Given the description of an element on the screen output the (x, y) to click on. 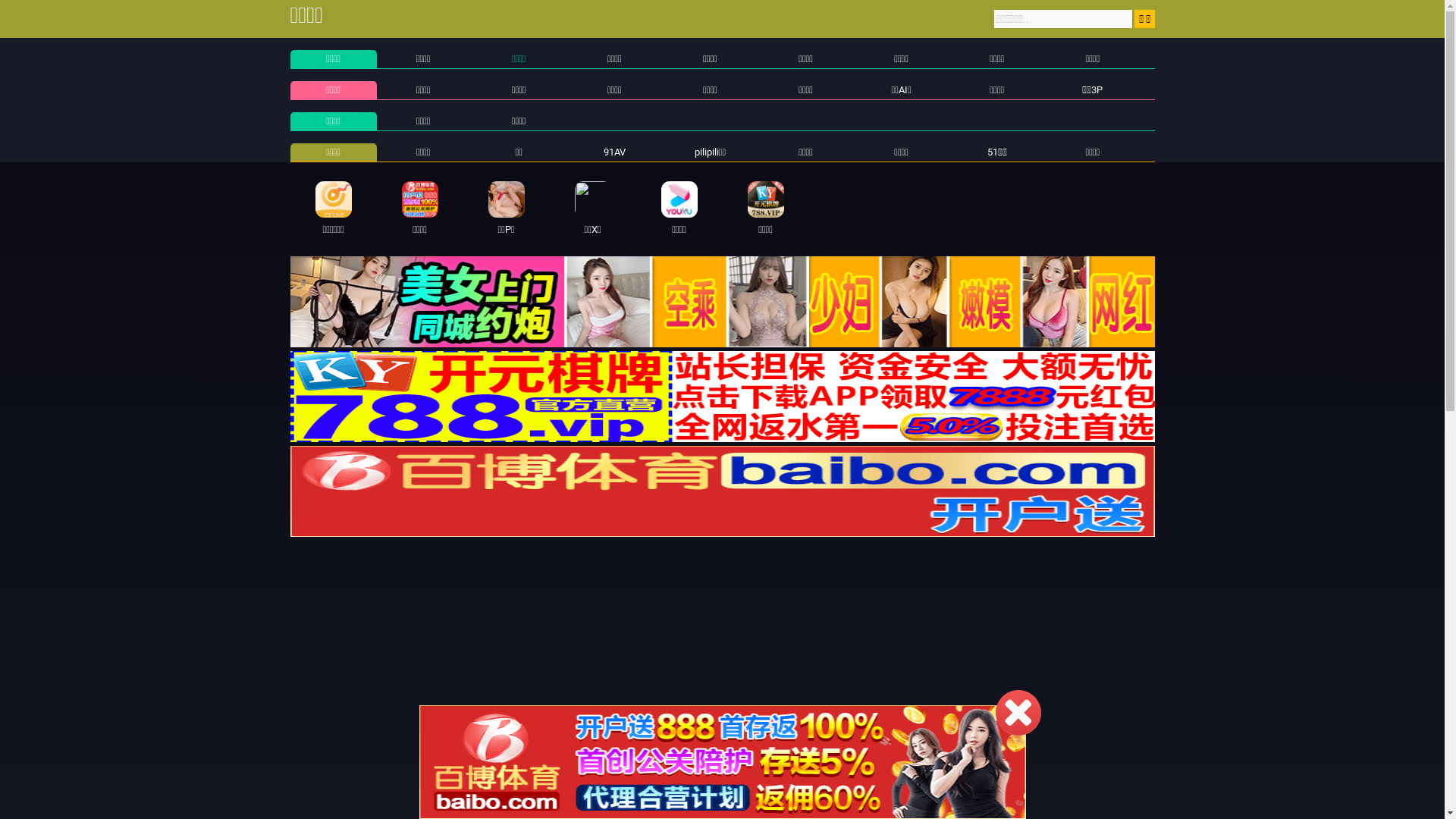
91AV Element type: text (614, 151)
